Given the description of an element on the screen output the (x, y) to click on. 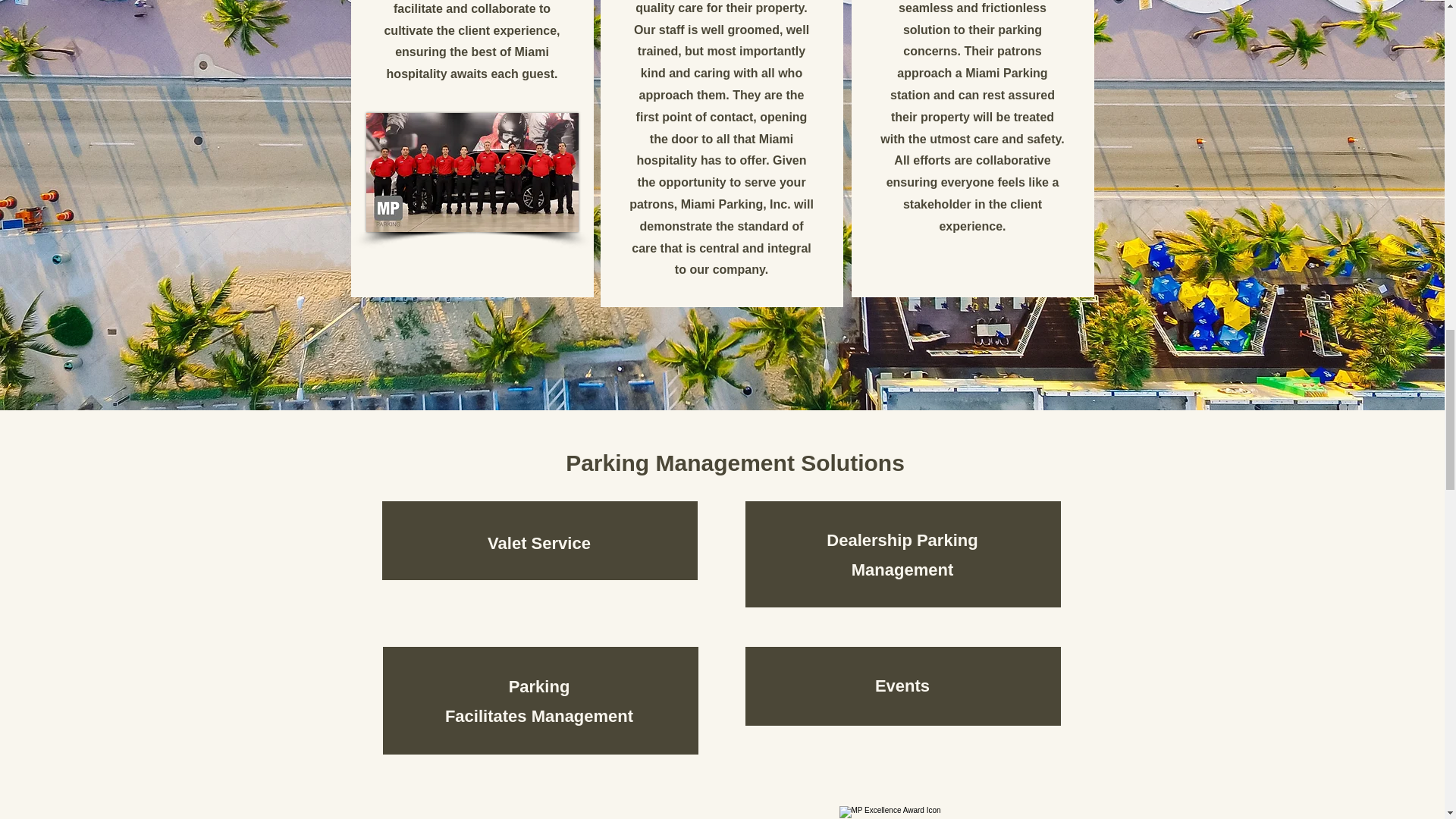
Screen Shot 2023-06-28 at 3.22.07 PM.png (902, 812)
